Given the description of an element on the screen output the (x, y) to click on. 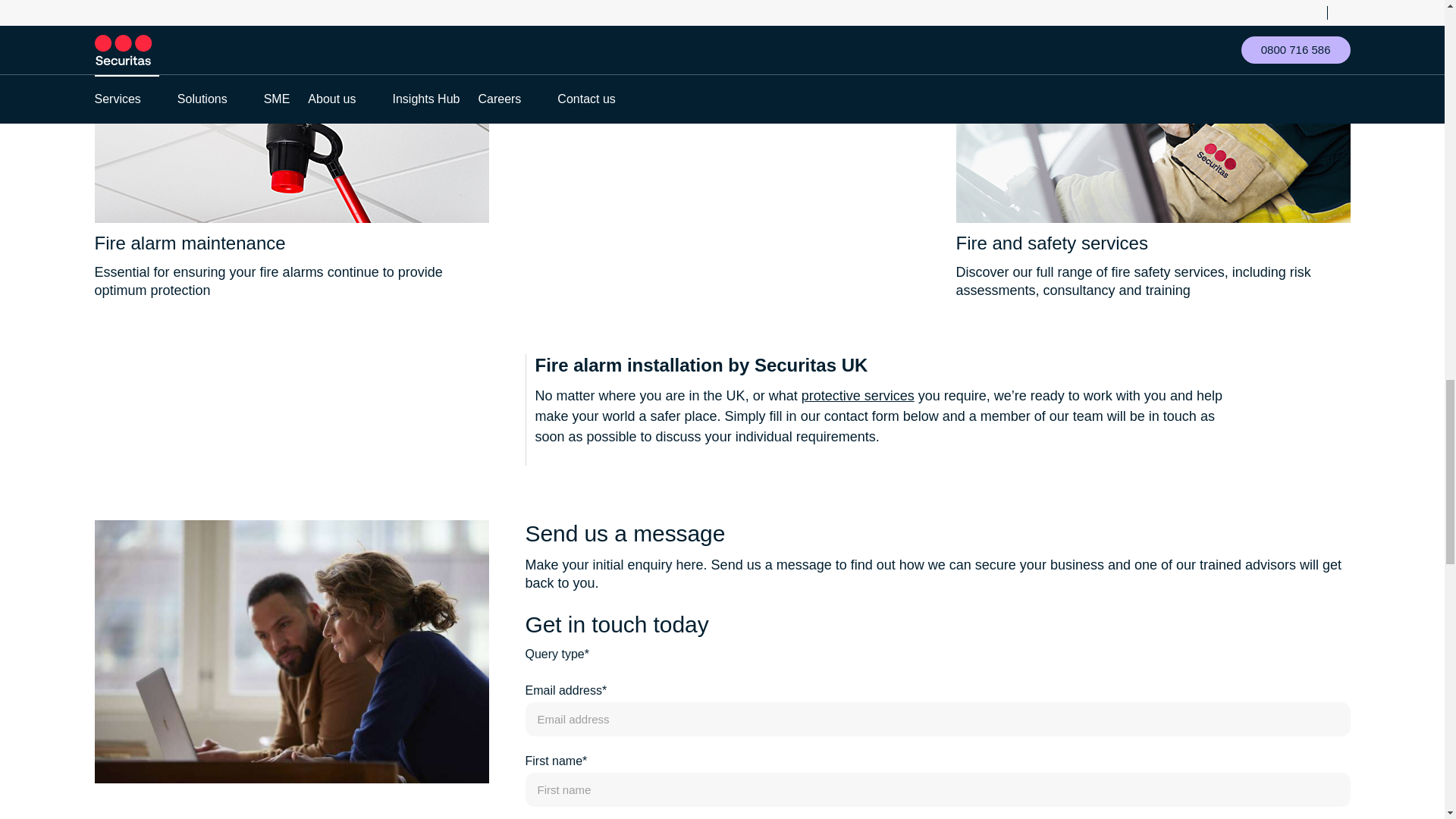
First name (936, 789)
Smoke alarm being tested (290, 111)
Email address (936, 718)
Fire and Safety by Securitas - 2400 x 1600.png (1152, 111)
